Given the description of an element on the screen output the (x, y) to click on. 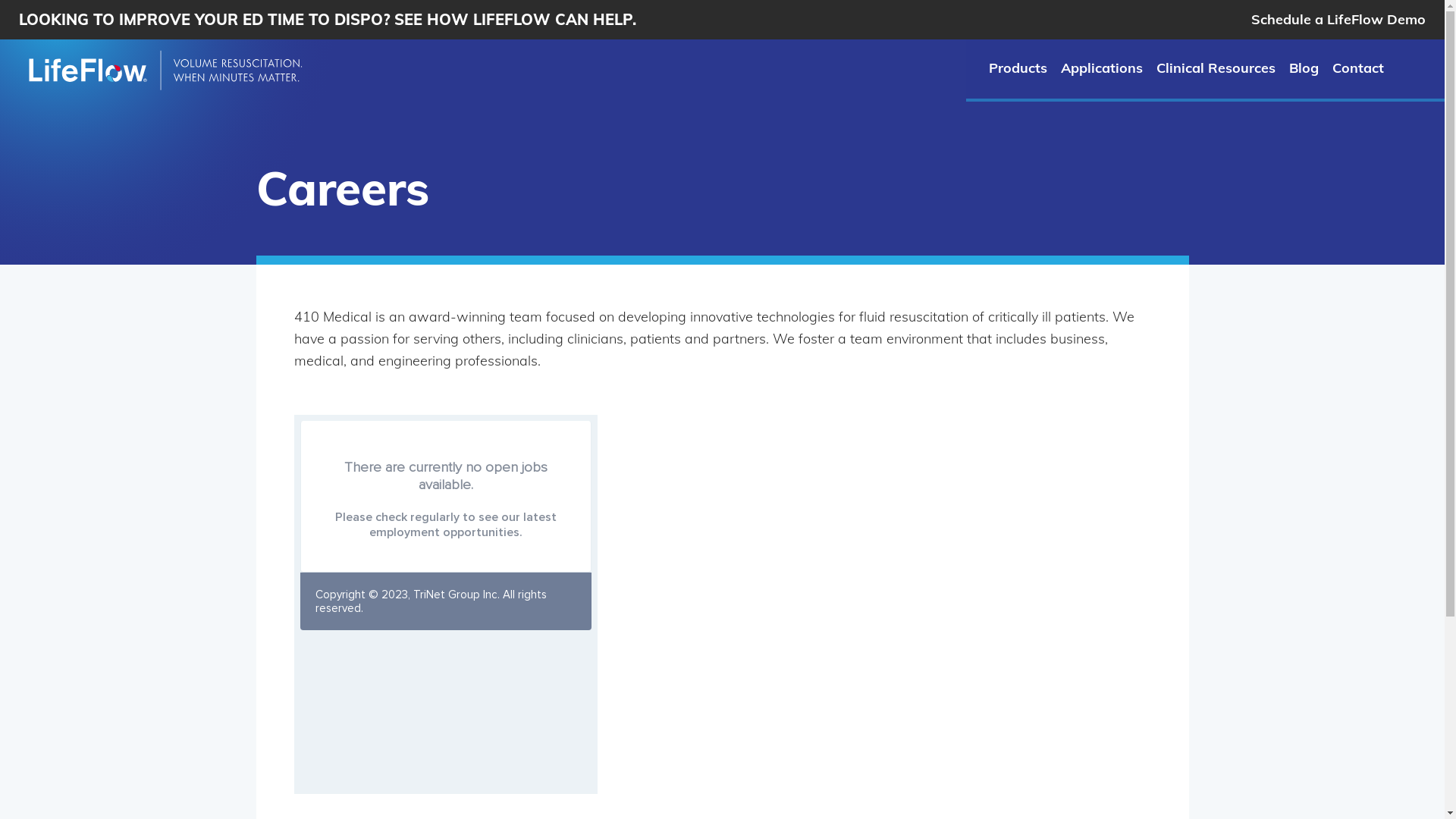
Clinical Resources Element type: text (1215, 67)
Products Element type: text (1017, 67)
Blog Element type: text (1303, 67)
TOGGLE SEARCH Element type: text (1420, 68)
Contact Element type: text (1357, 67)
Logo Link Element type: text (162, 70)
Applications Element type: text (1101, 67)
Schedule a LifeFlow Demo Element type: text (1338, 20)
